Given the description of an element on the screen output the (x, y) to click on. 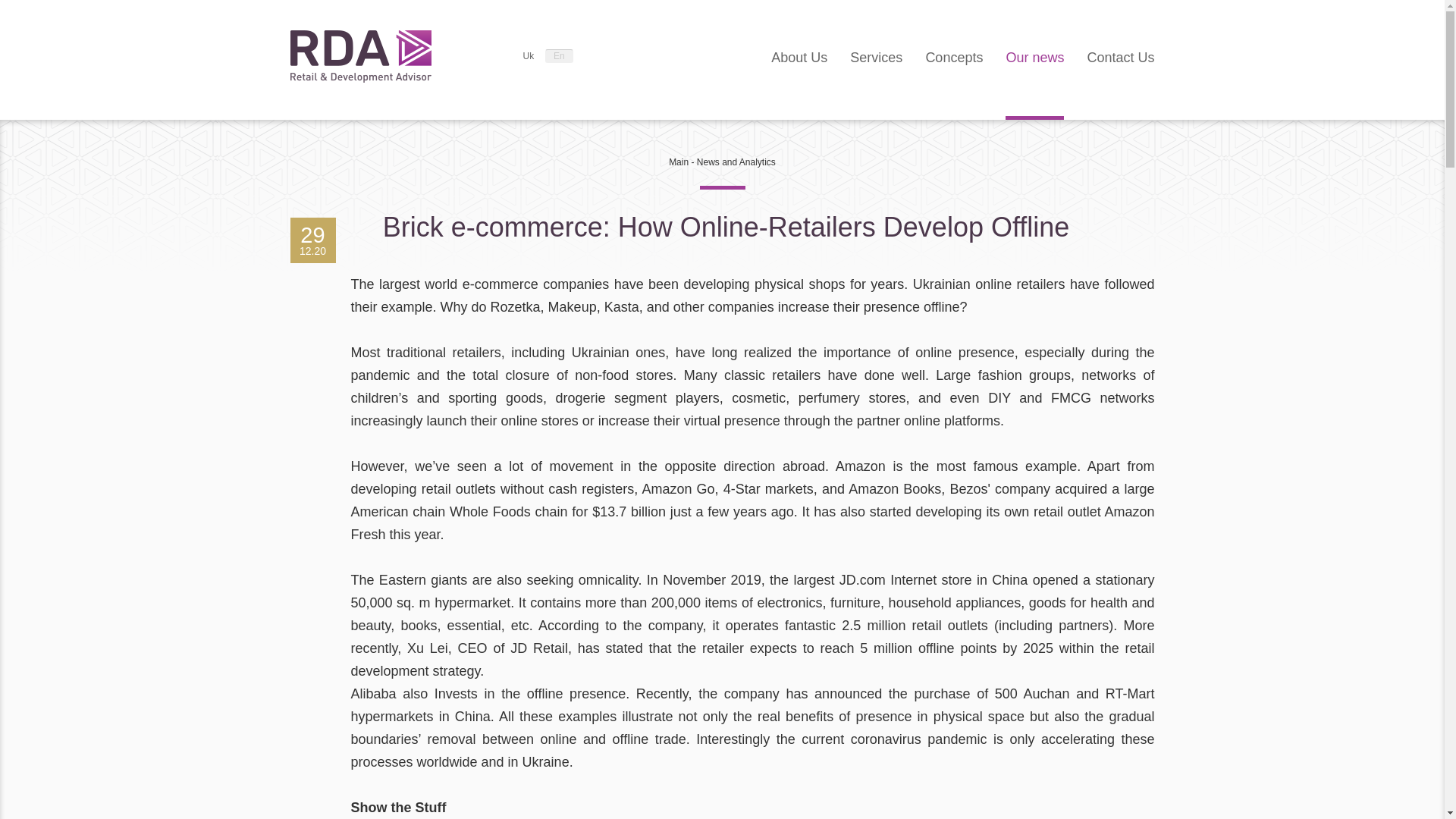
En (558, 56)
Uk (527, 56)
News and Analytics (736, 162)
Main (678, 162)
